Given the description of an element on the screen output the (x, y) to click on. 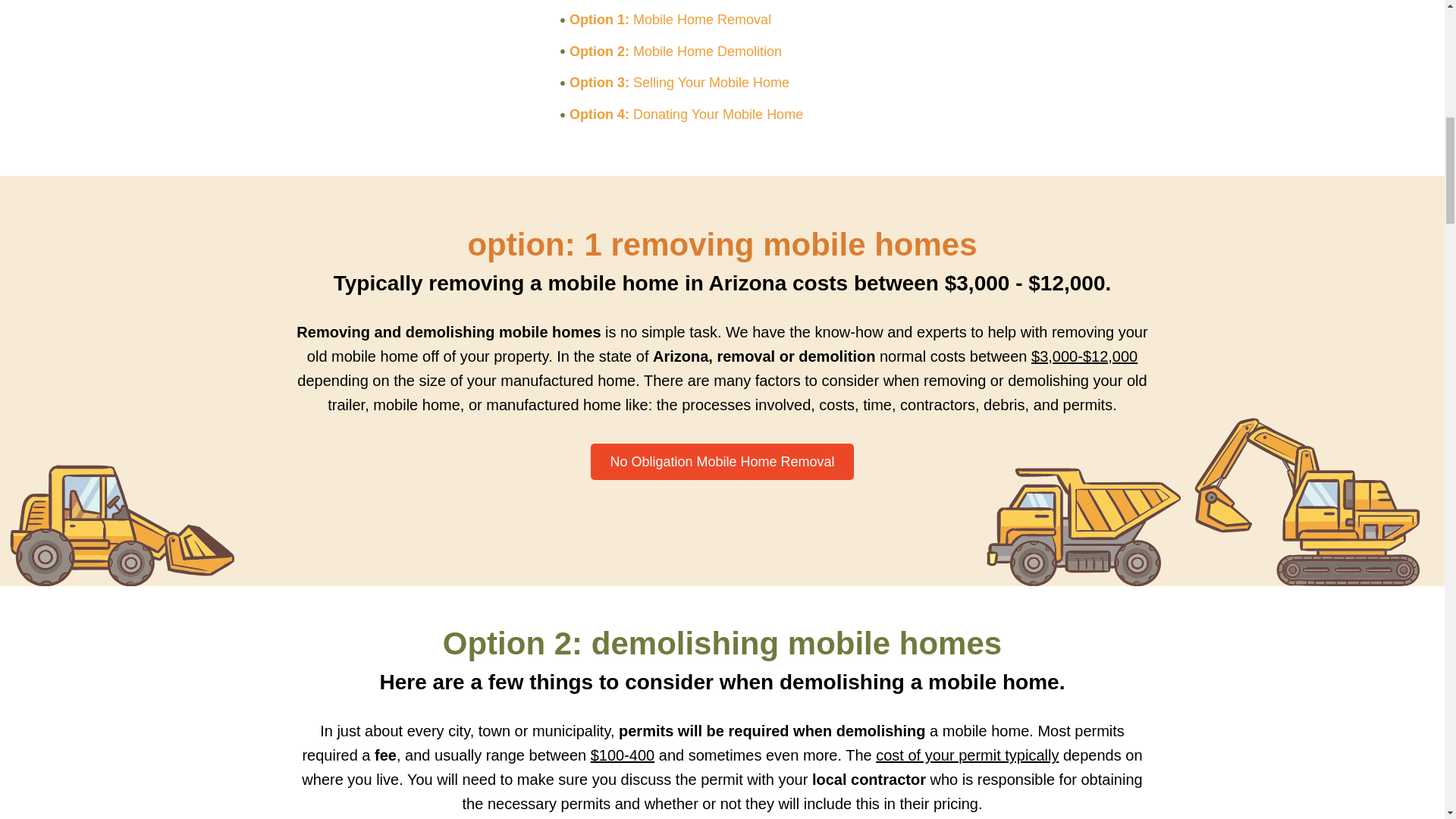
No Obligation Mobile Home Removal (722, 461)
Option 4: Donating Your Mobile Home (721, 115)
Option 1: Mobile Home Removal (721, 20)
Option 2: Mobile Home Demolition (721, 52)
Option 3: Selling Your Mobile Home (721, 83)
